Given the description of an element on the screen output the (x, y) to click on. 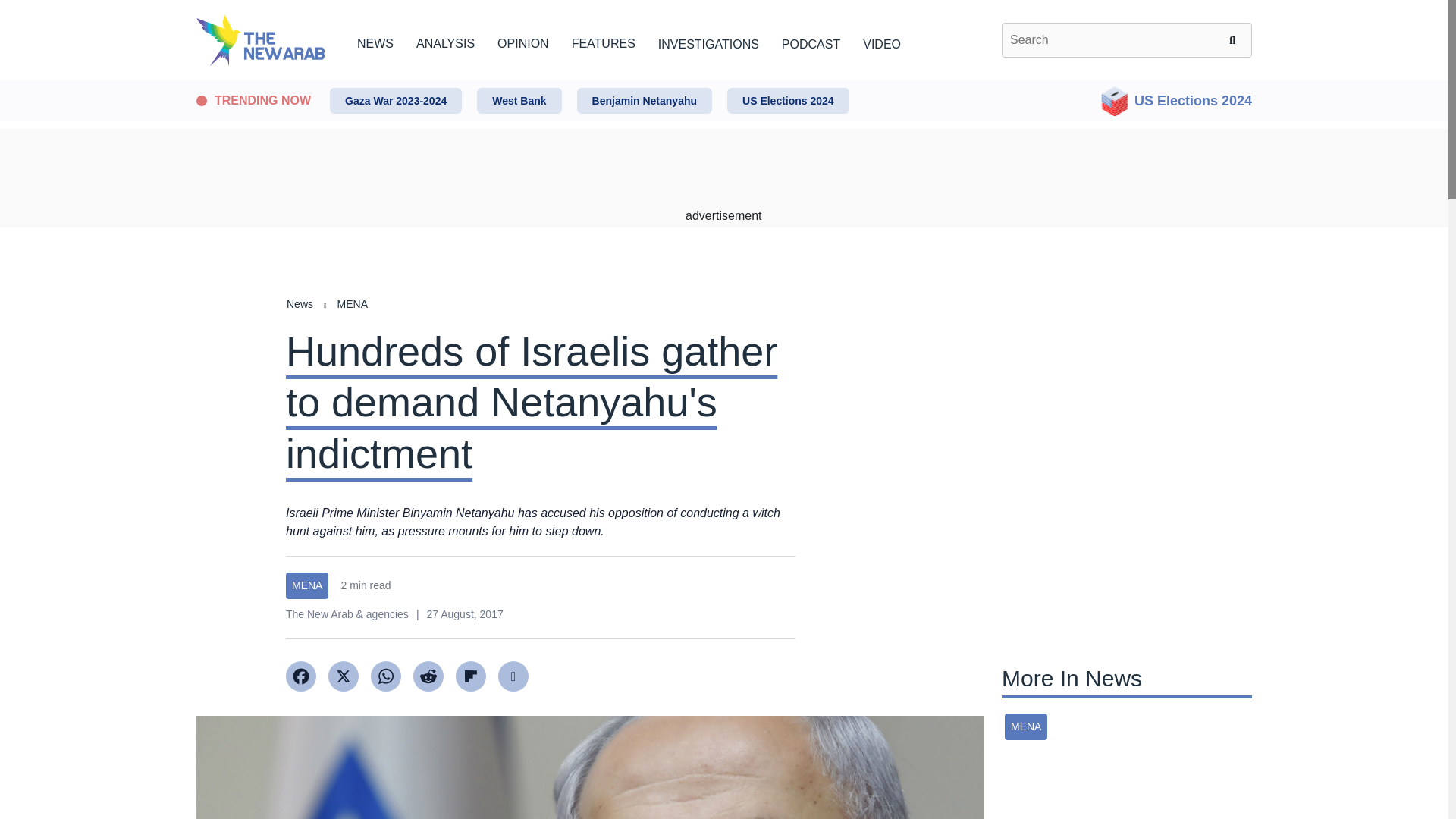
OPINION (523, 41)
Search (1234, 39)
Skip to main content (724, 81)
ANALYSIS (445, 41)
NEWS (375, 41)
